Given the description of an element on the screen output the (x, y) to click on. 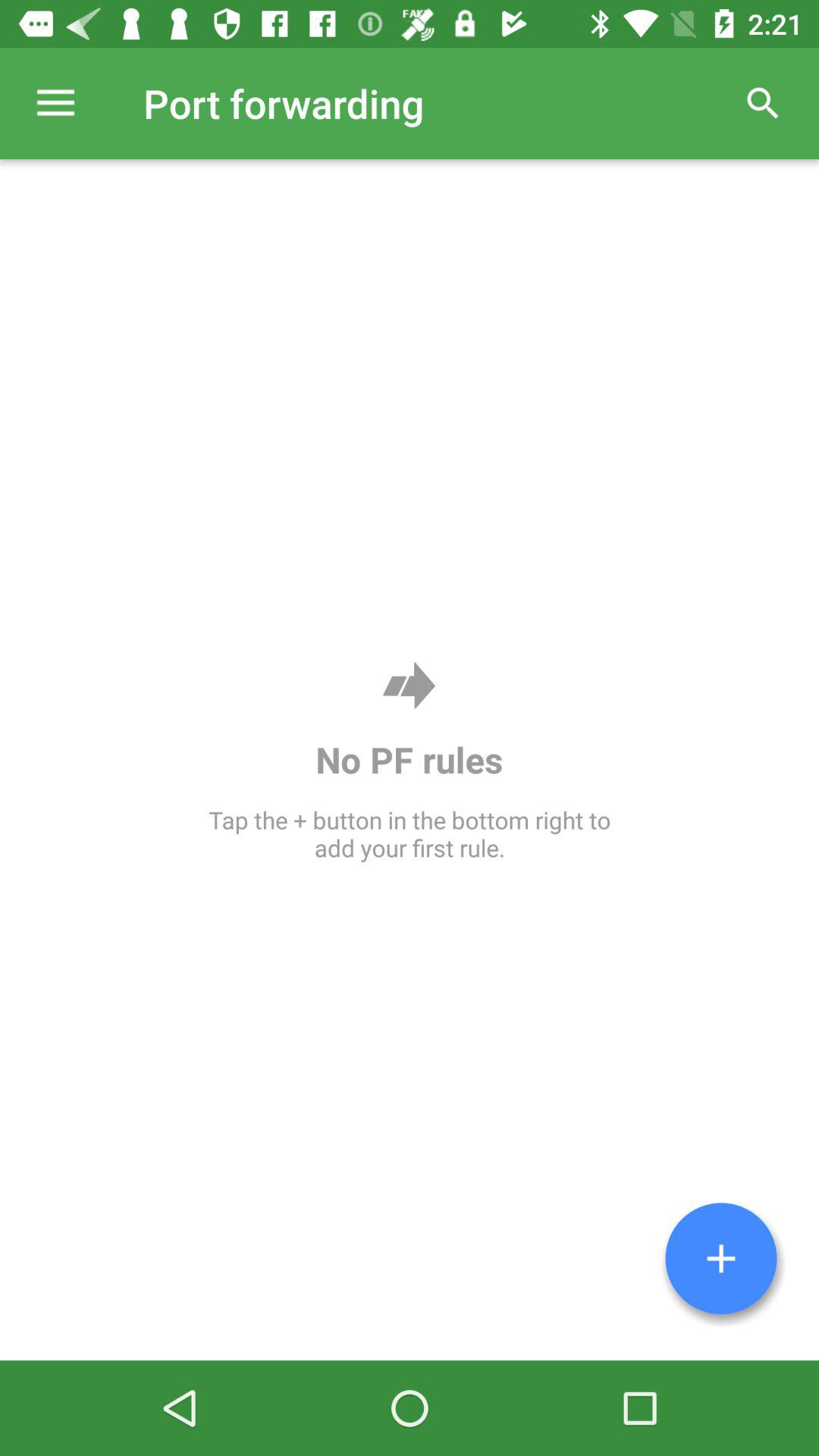
turn off item at the top right corner (763, 103)
